Given the description of an element on the screen output the (x, y) to click on. 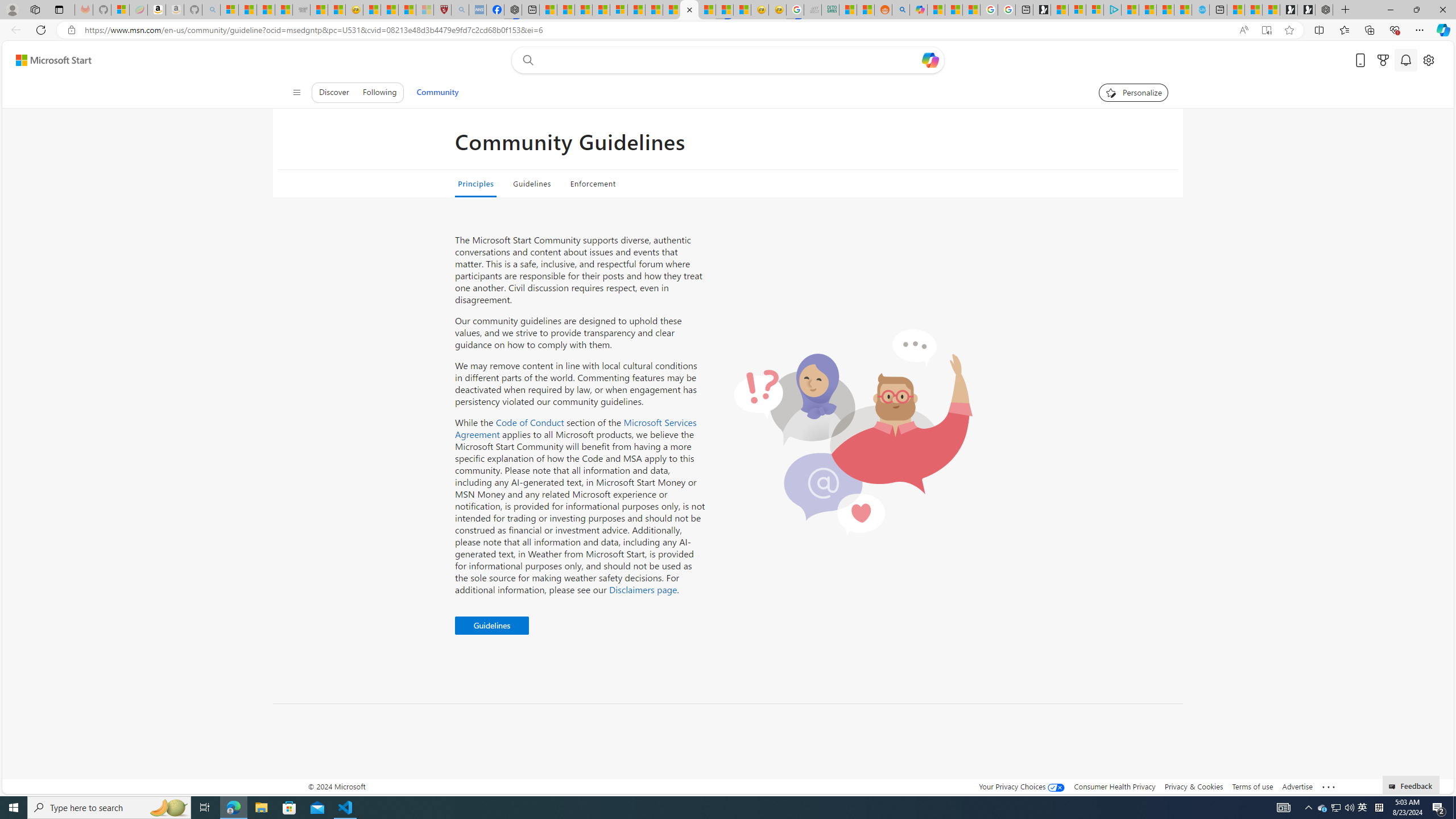
Microsoft Start (1165, 9)
New Tab (1346, 9)
Following (379, 92)
View site information (70, 29)
Collections (1369, 29)
Microsoft Services Agreement (575, 428)
Utah sues federal government - Search (900, 9)
Terms of use (1252, 786)
Address and search bar (658, 29)
14 Common Myths Debunked By Scientific Facts (671, 9)
